Given the description of an element on the screen output the (x, y) to click on. 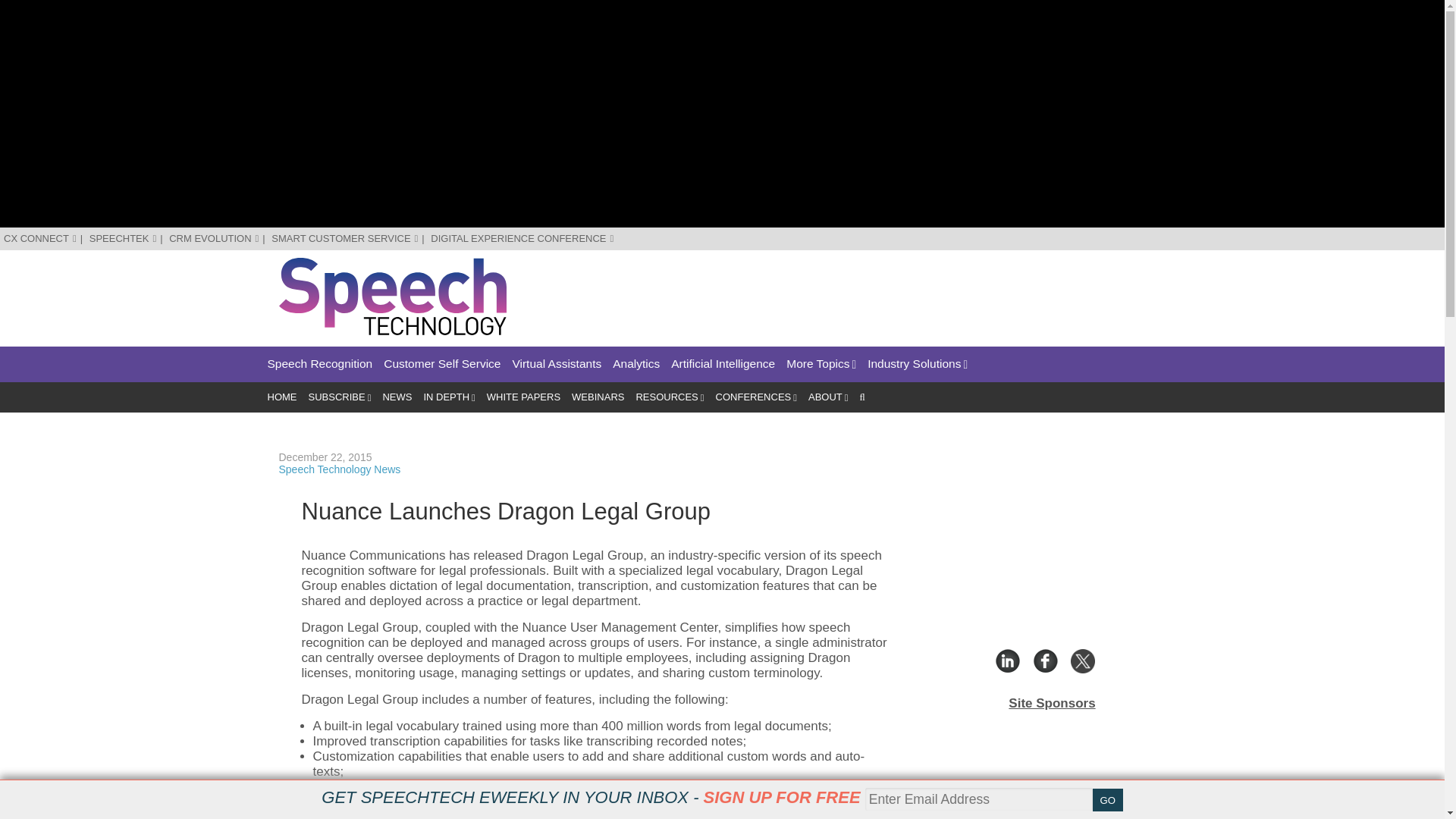
Speech Recognition (319, 364)
DIGITAL EXPERIENCE CONFERENCE (521, 238)
Artificial Intelligence (722, 364)
GET SPEECHTECH EWEEKLY IN YOUR INBOX - SIGN UP FOR FREE (590, 797)
3rd party ad content (890, 291)
Customer Self Service (442, 364)
Artificial Intelligence (722, 364)
Industry Solutions (917, 364)
SPEECHTEK (122, 238)
Customer Self Service (442, 364)
More Topics (821, 364)
Virtual Assistants (556, 364)
Virtual Assistants (556, 364)
CRM EVOLUTION (213, 238)
